Given the description of an element on the screen output the (x, y) to click on. 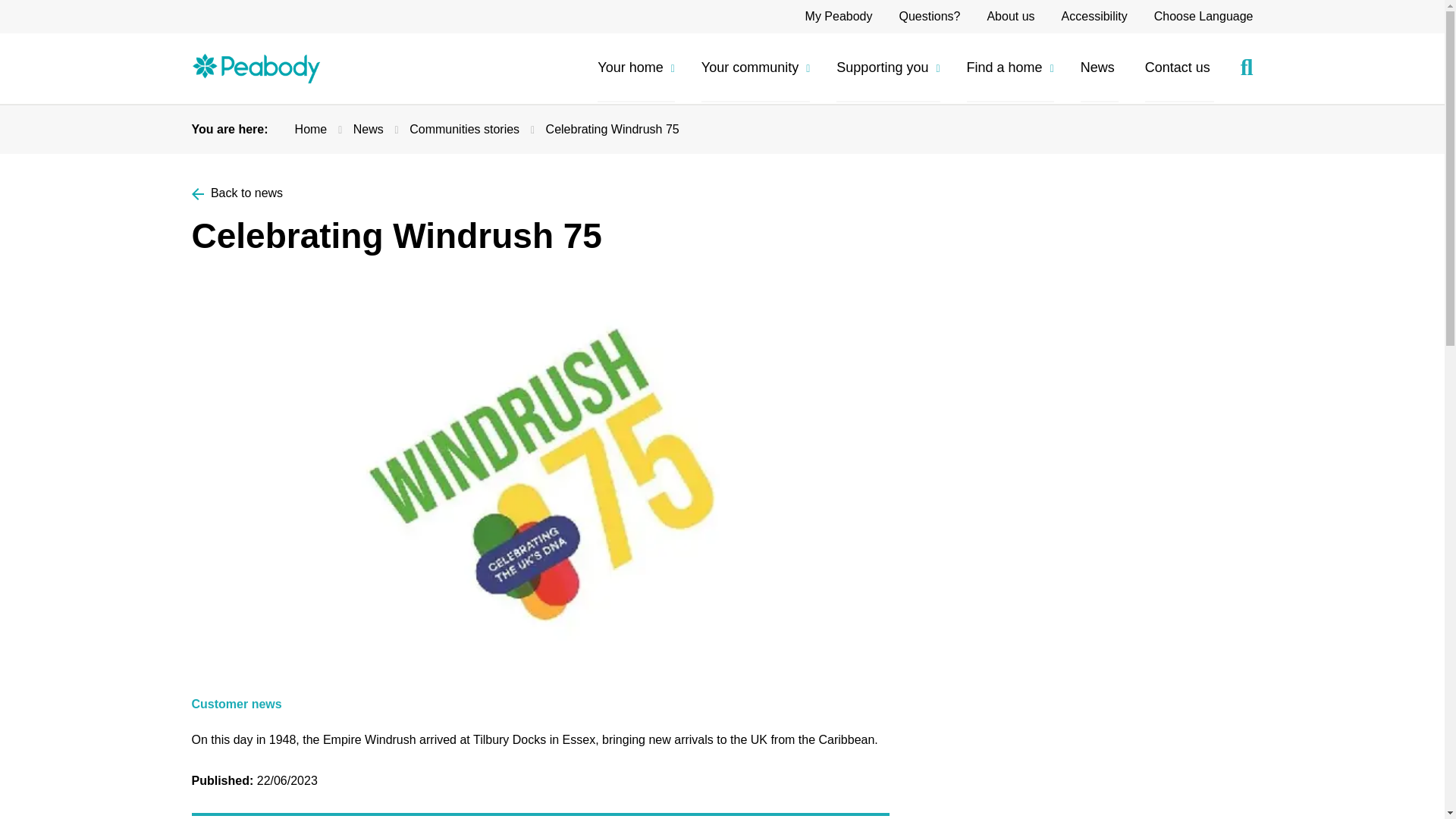
My Peabody (838, 15)
Your home (635, 68)
My Peabody (838, 15)
About us (1010, 15)
About us (1010, 15)
Choose Language (1203, 15)
Your home  (635, 68)
Choose language (1203, 15)
Home (255, 68)
Questions? (928, 15)
